Given the description of an element on the screen output the (x, y) to click on. 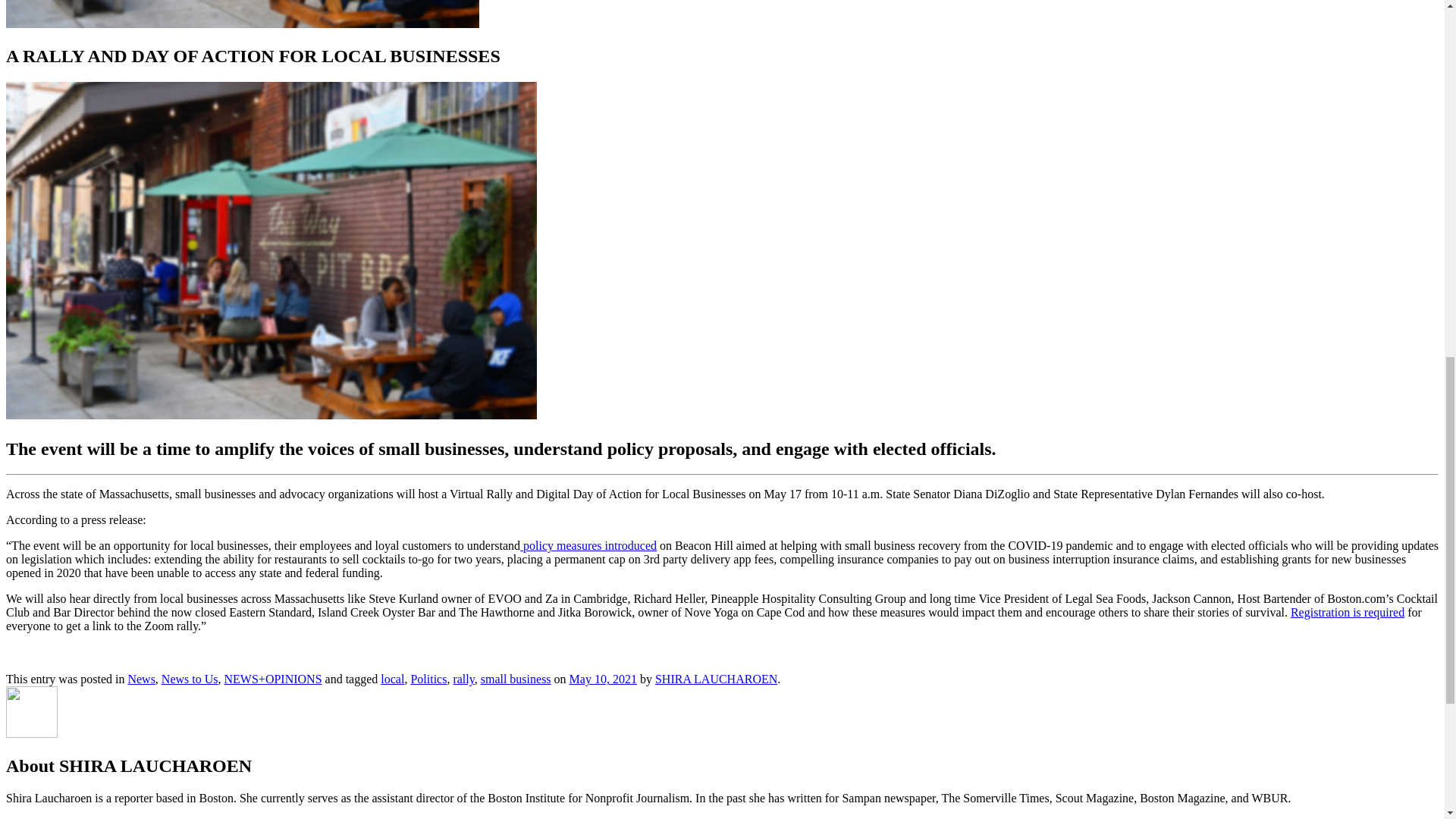
View all posts by SHIRA LAUCHAROEN (716, 678)
policy measures introduced (587, 545)
local (392, 678)
8:50 pm (603, 678)
Politics (428, 678)
Registration is required (1347, 612)
News to Us (189, 678)
News (141, 678)
